Given the description of an element on the screen output the (x, y) to click on. 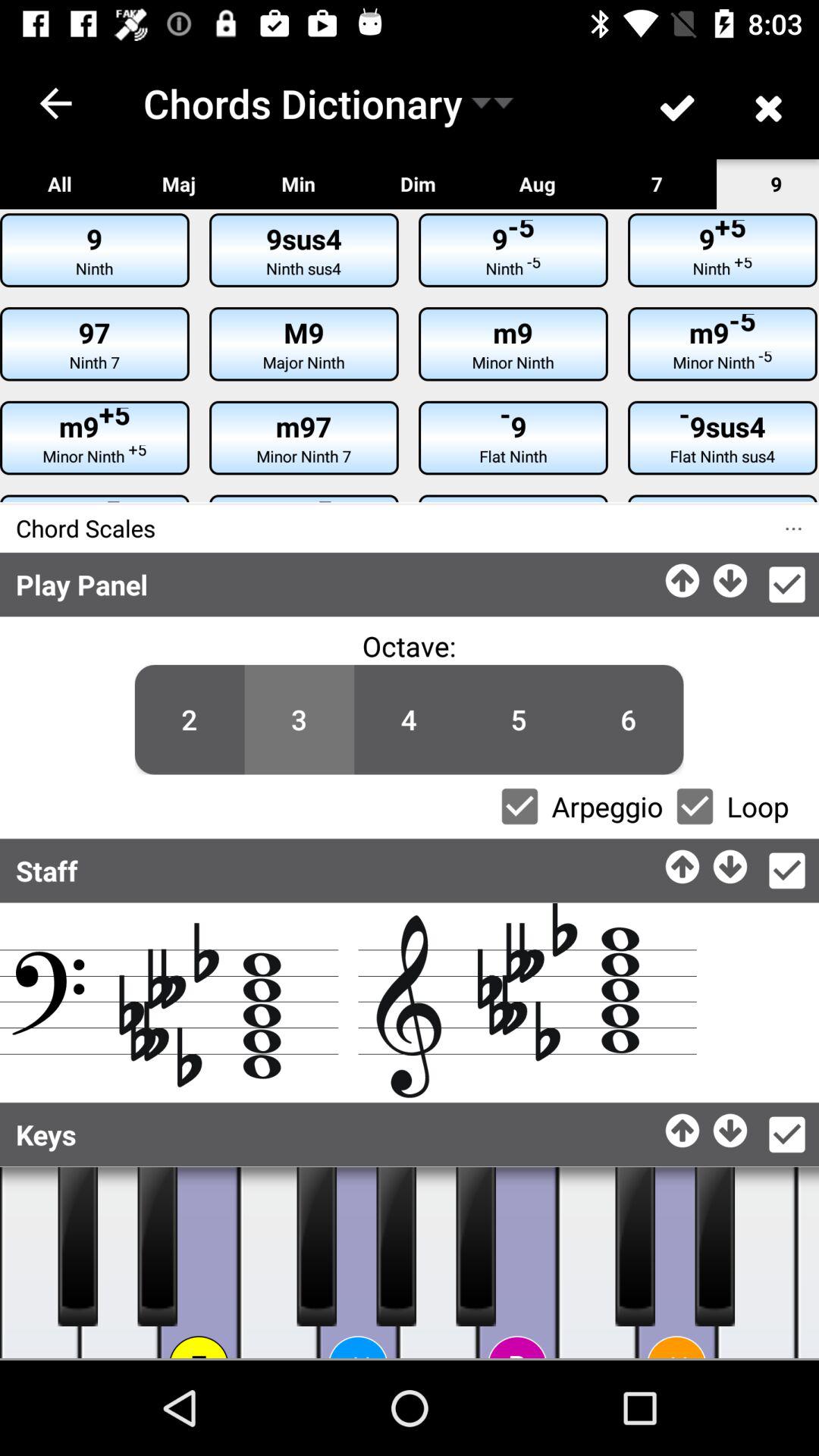
keys (39, 1262)
